Given the description of an element on the screen output the (x, y) to click on. 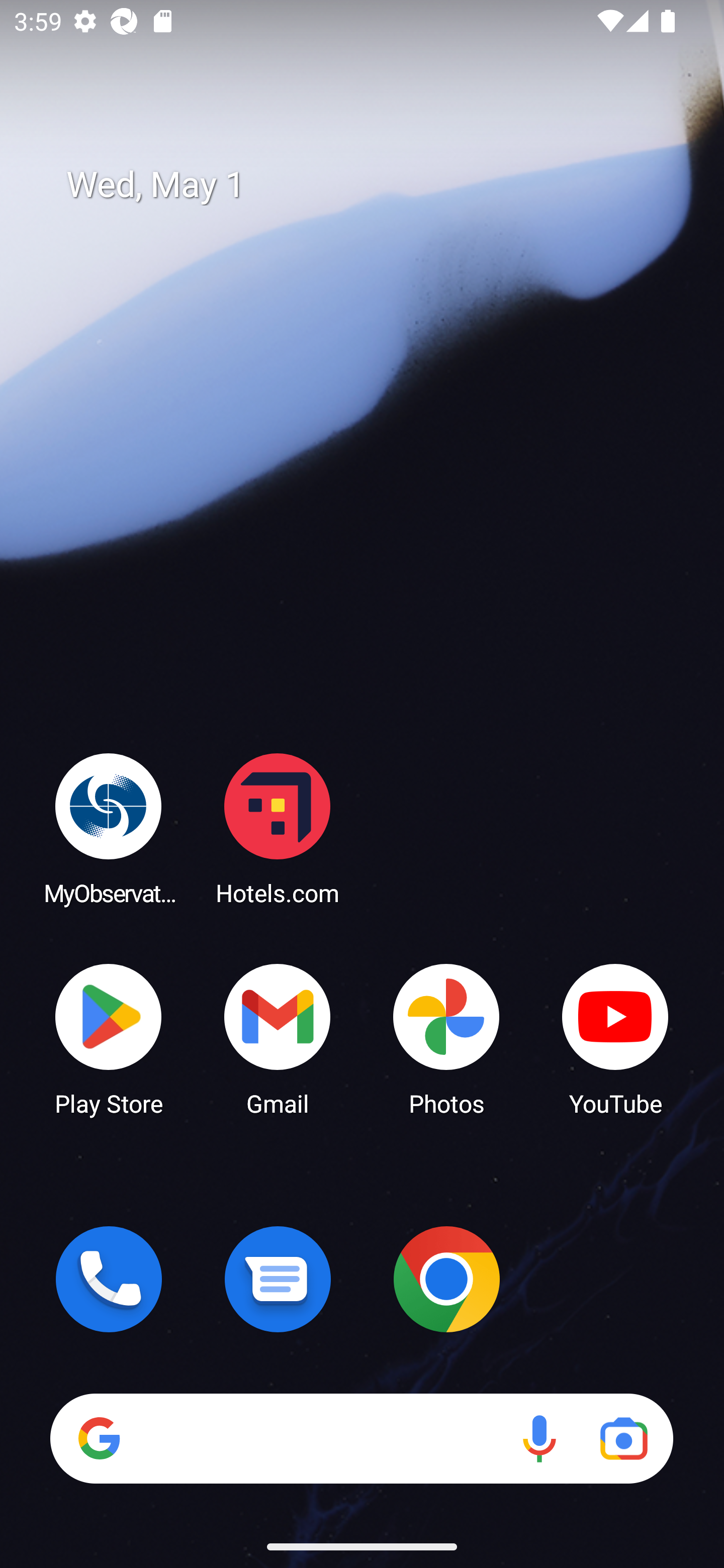
Wed, May 1 (375, 184)
MyObservatory (108, 828)
Hotels.com (277, 828)
Play Store (108, 1038)
Gmail (277, 1038)
Photos (445, 1038)
YouTube (615, 1038)
Phone (108, 1279)
Messages (277, 1279)
Chrome (446, 1279)
Search Voice search Google Lens (361, 1438)
Voice search (539, 1438)
Google Lens (623, 1438)
